Given the description of an element on the screen output the (x, y) to click on. 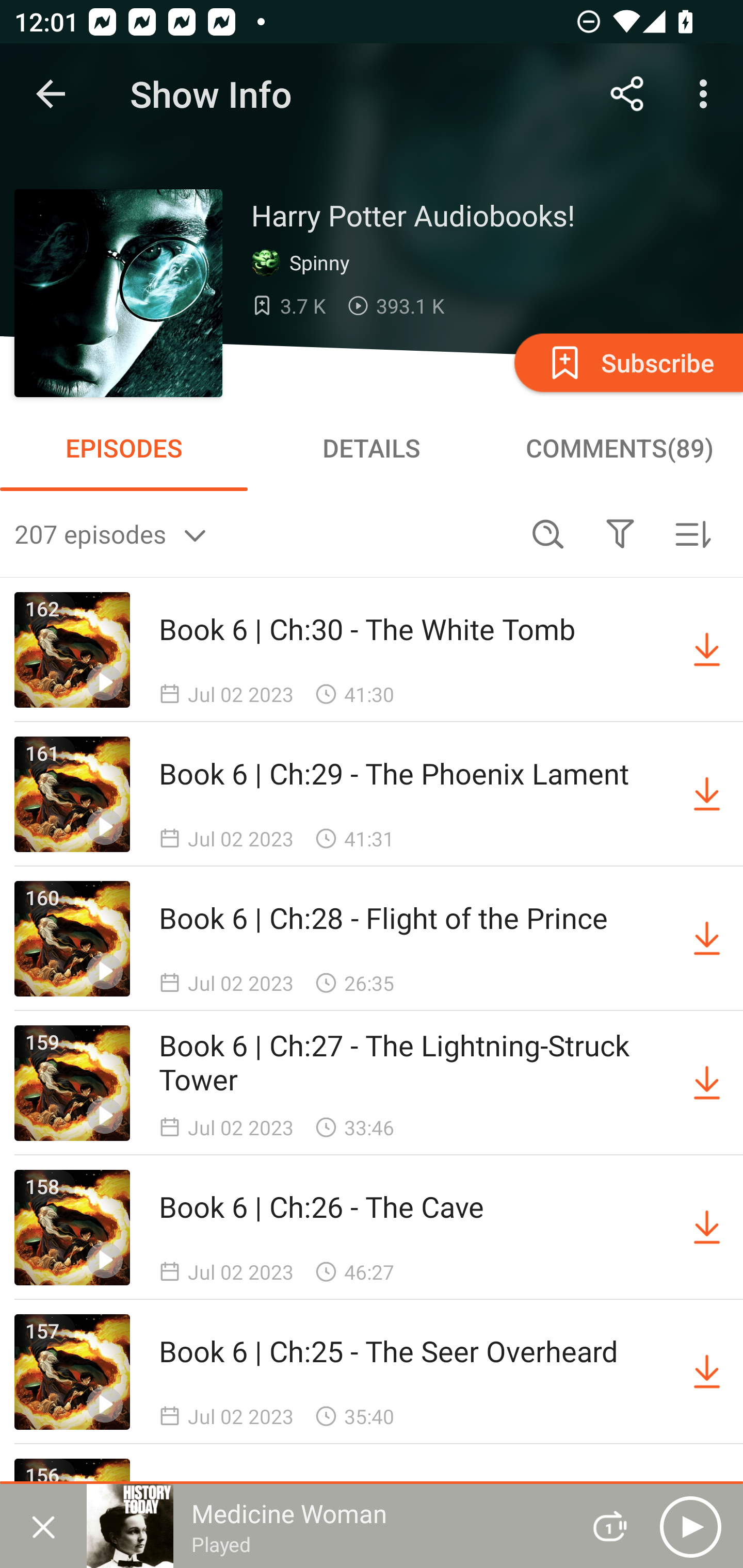
Navigate up (50, 93)
Share (626, 93)
More options (706, 93)
Spinny (304, 262)
Subscribe (627, 361)
EPISODES (123, 447)
DETAILS (371, 447)
COMMENTS(89) (619, 447)
207 episodes  (262, 533)
 Search (547, 533)
 (619, 533)
 Sorted by newest first (692, 533)
Download (706, 649)
Download (706, 793)
Download (706, 939)
Download (706, 1083)
Download (706, 1227)
Download (706, 1371)
Medicine Woman Played (326, 1525)
Play (690, 1526)
